Given the description of an element on the screen output the (x, y) to click on. 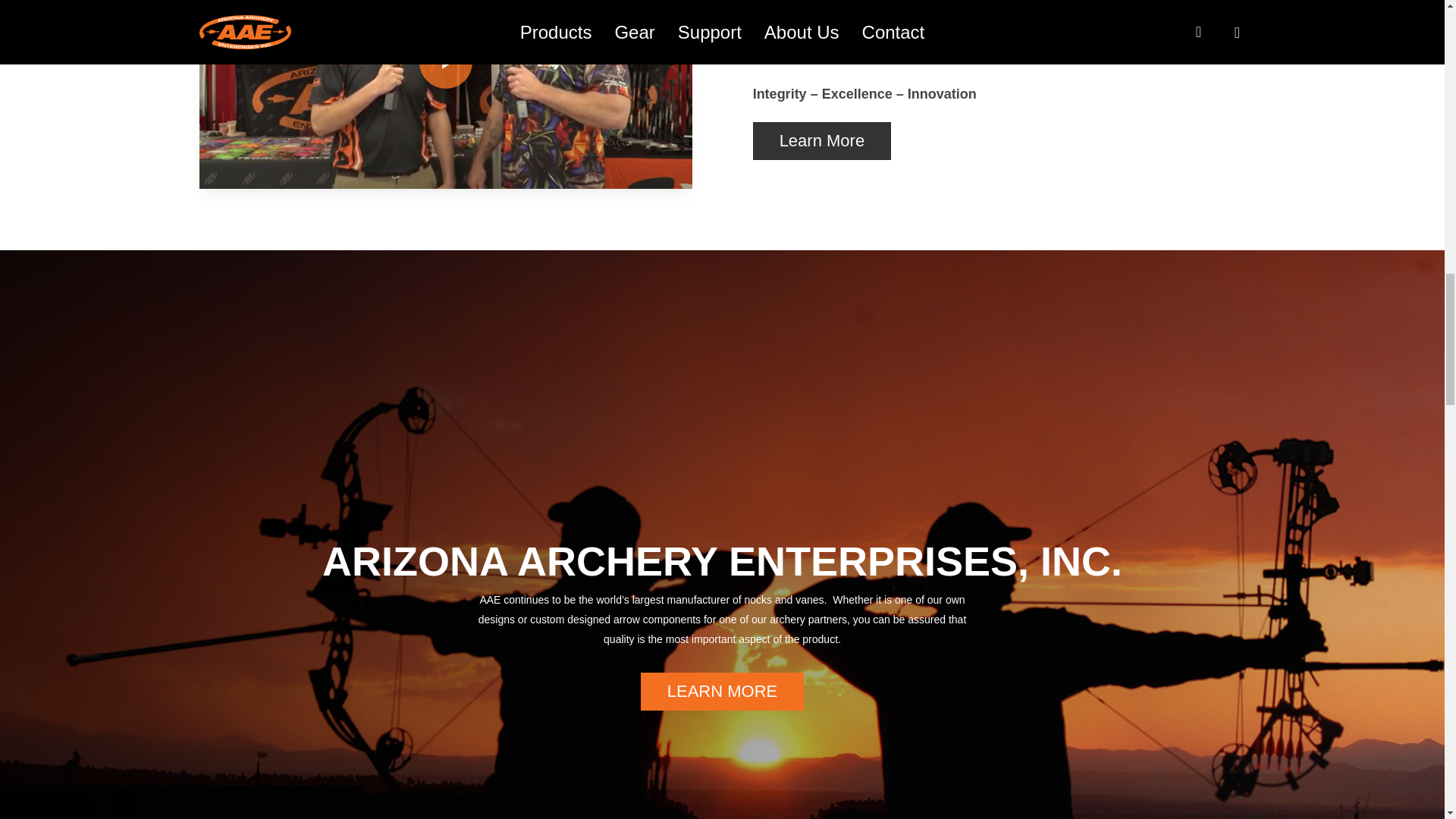
LEARN MORE (721, 691)
Play Video (445, 62)
Learn More (821, 140)
